Given the description of an element on the screen output the (x, y) to click on. 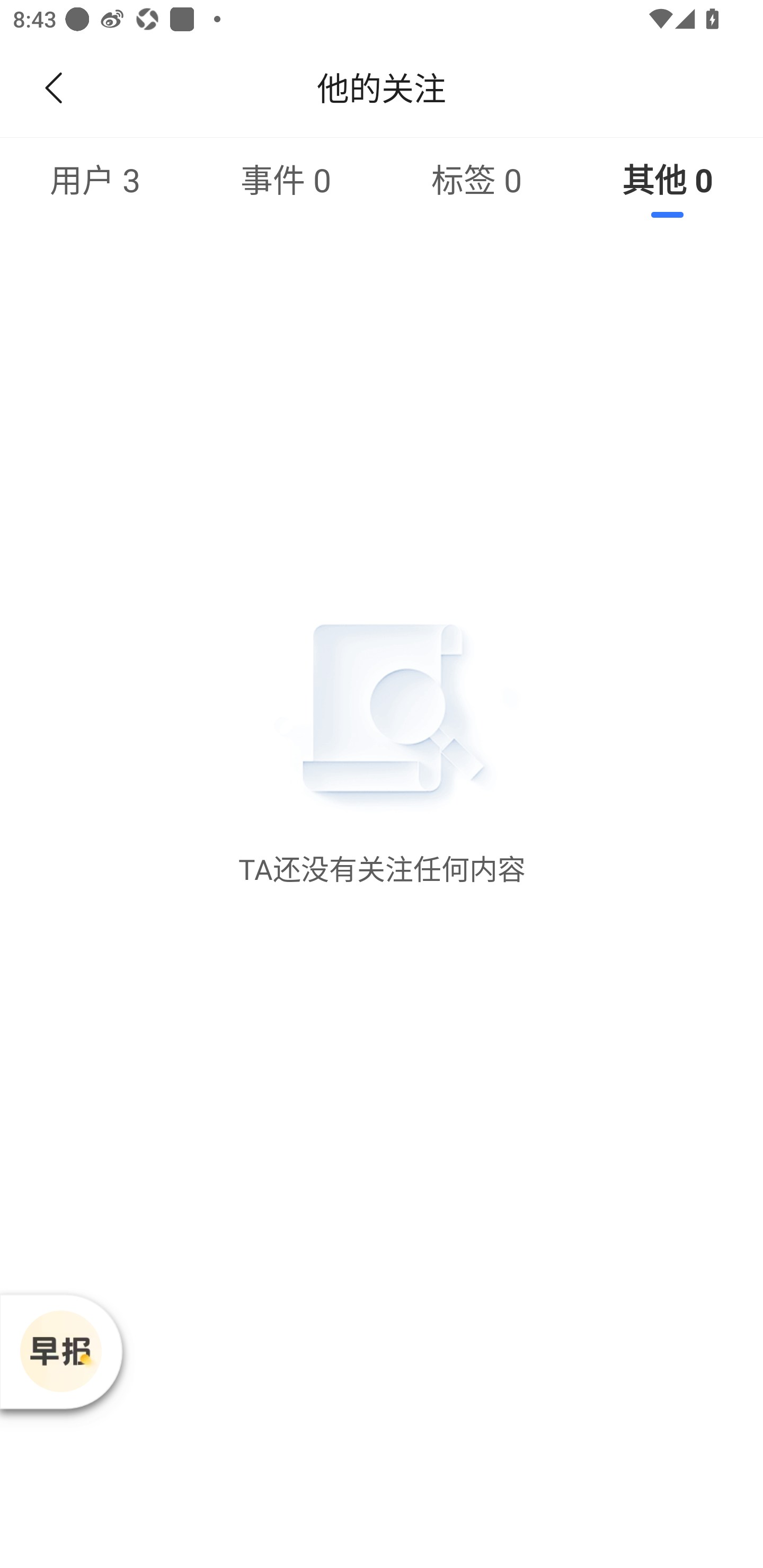
返回，可点击 (49, 87)
用户&nbsp;3，可选中 (95, 179)
事件&nbsp;0，可选中 (285, 179)
标签&nbsp;0，可选中 (476, 179)
已选中其他&nbsp;0 (667, 179)
播放器 (60, 1351)
